Given the description of an element on the screen output the (x, y) to click on. 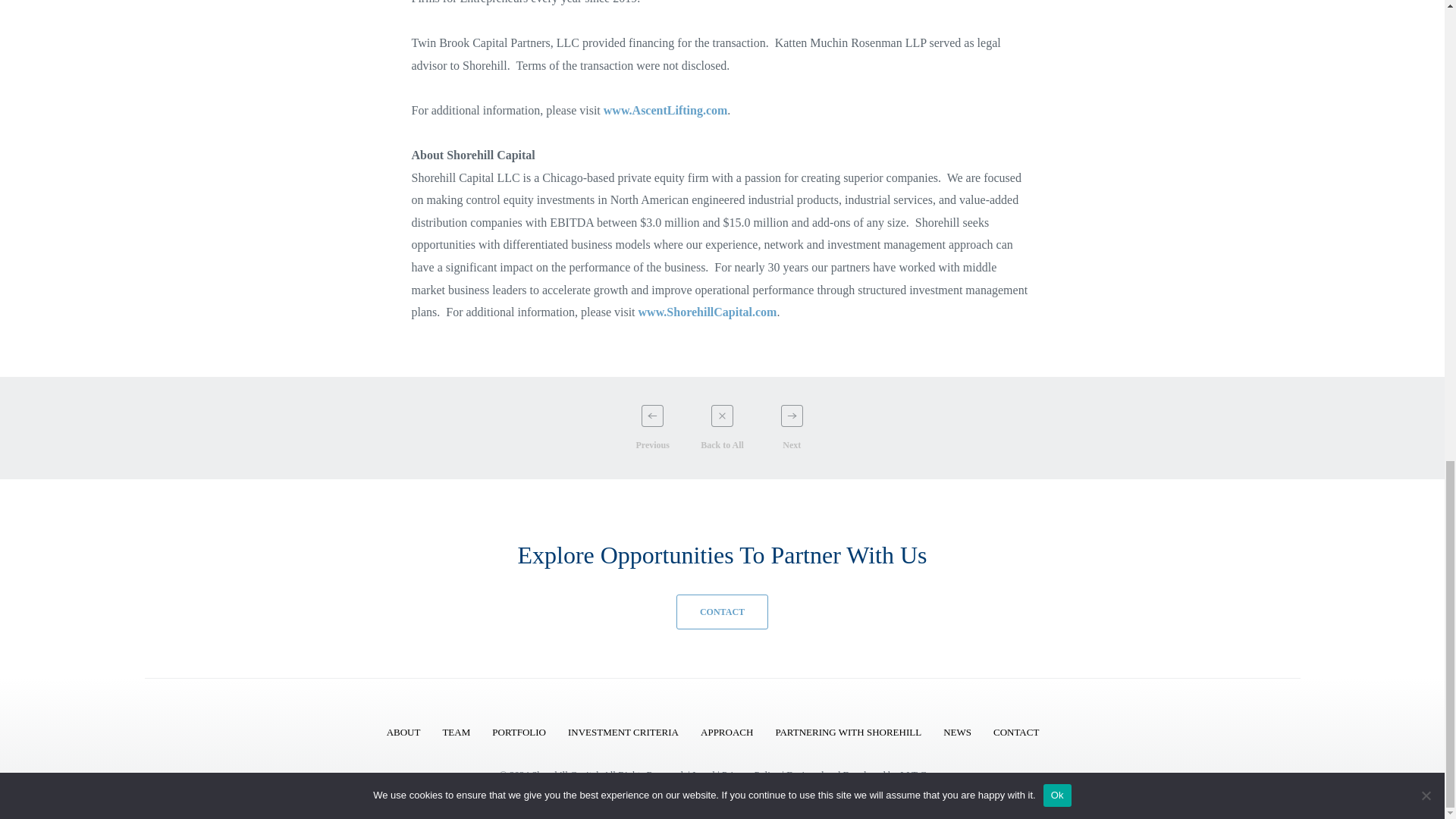
ABOUT (403, 731)
CONTACT (1015, 731)
Legal (703, 774)
PORTFOLIO (519, 731)
NEWS (957, 731)
www.ShorehillCapital.com (708, 311)
PARTNERING WITH SHOREHILL (847, 731)
INVESTMENT CRITERIA (622, 731)
LLT Group (921, 774)
APPROACH (726, 731)
TEAM (456, 731)
www.AscentLifting.com (666, 110)
CONTACT (722, 611)
Privacy Policy (750, 774)
